Given the description of an element on the screen output the (x, y) to click on. 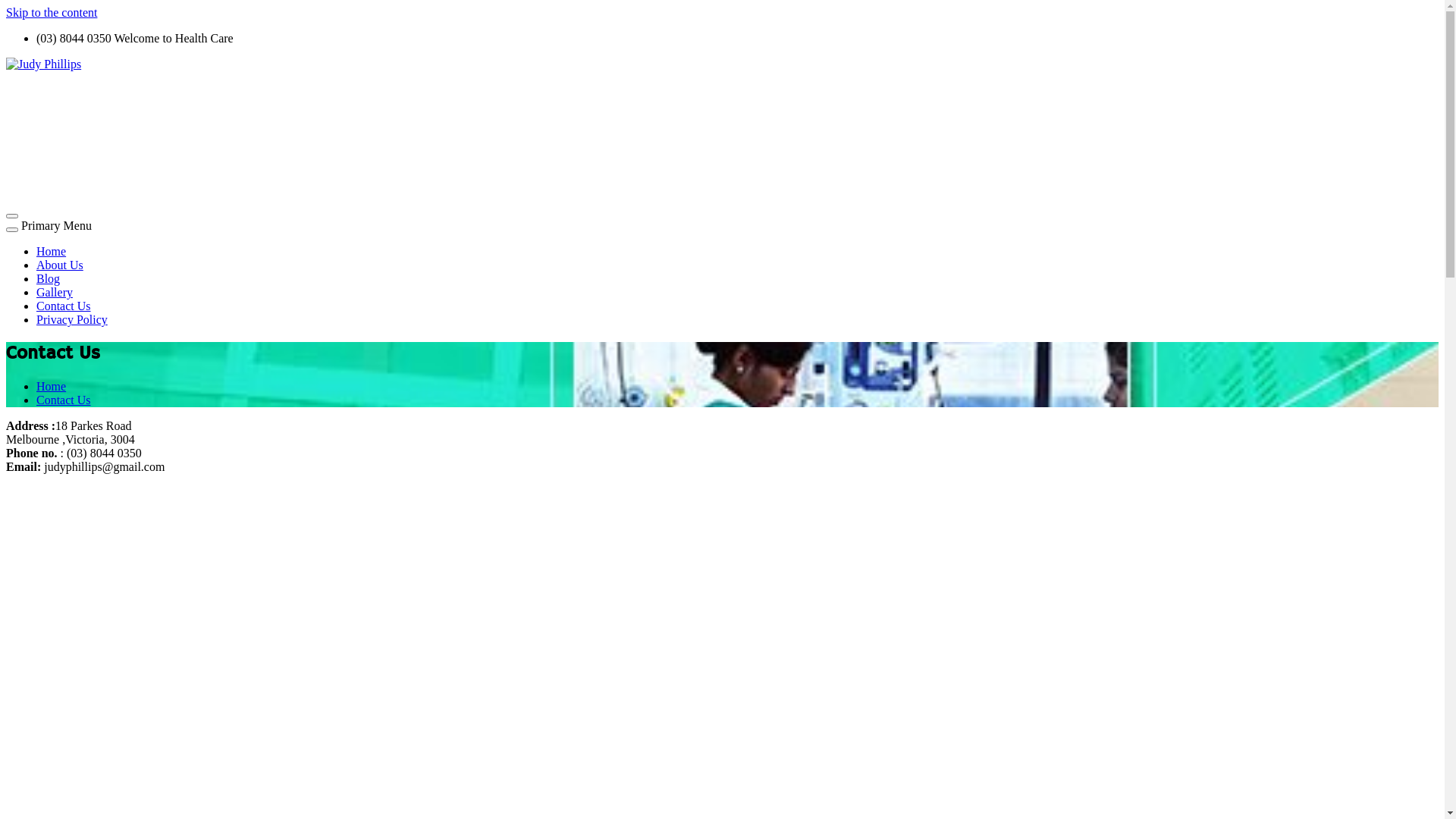
Home Element type: text (50, 385)
Contact Us Element type: text (63, 399)
Skip to the content Element type: text (51, 12)
Privacy Policy Element type: text (71, 319)
Contact Us Element type: text (63, 305)
About Us Element type: text (59, 264)
Gallery Element type: text (54, 291)
Blog Element type: text (47, 278)
Home Element type: text (50, 250)
